Given the description of an element on the screen output the (x, y) to click on. 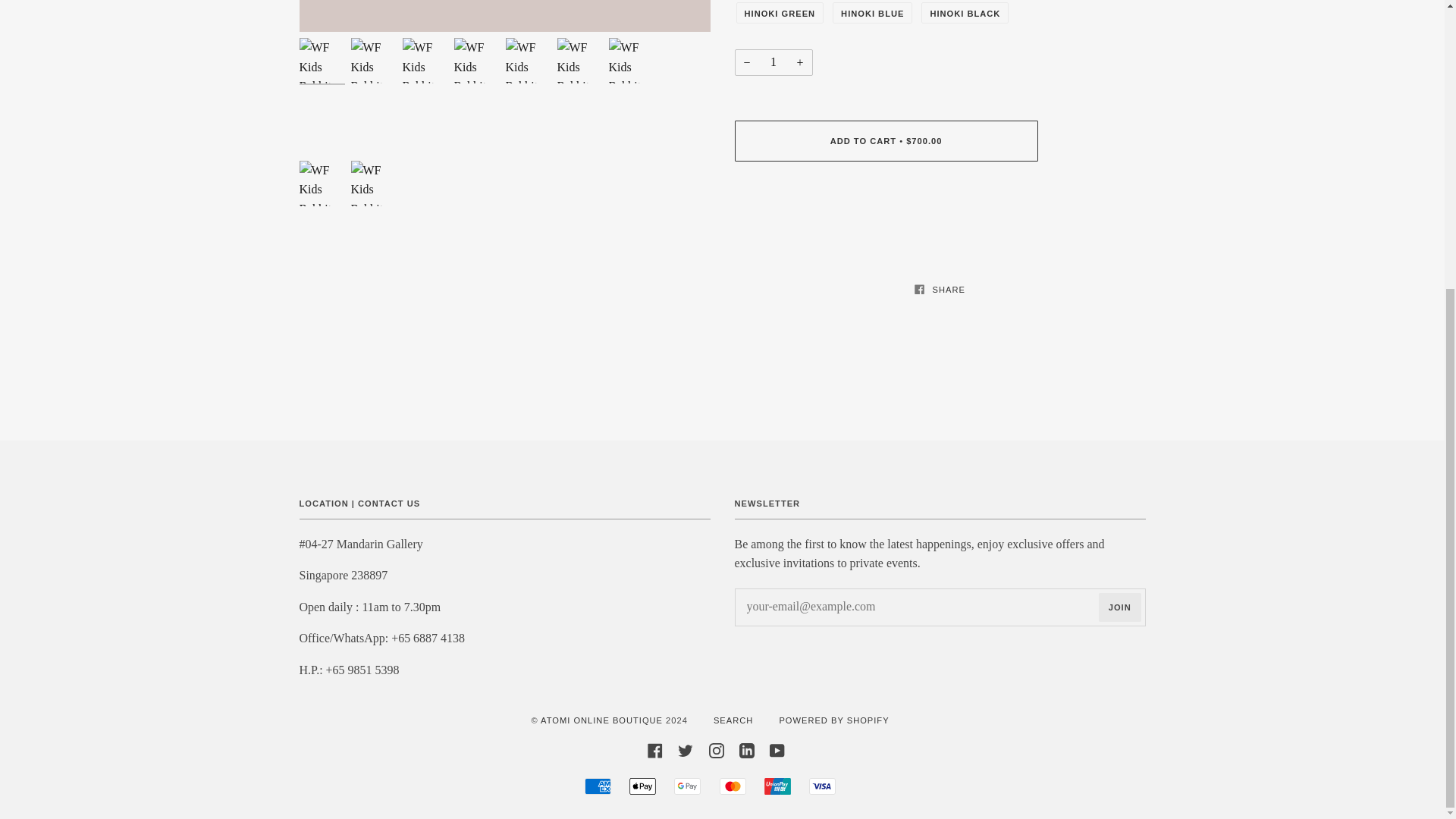
UNION PAY (777, 786)
Facebook (654, 749)
AMERICAN EXPRESS (598, 786)
MASTERCARD (732, 786)
Linkedin (746, 749)
APPLE PAY (642, 786)
YouTube (777, 749)
Twitter (685, 749)
1 (772, 62)
VISA (822, 786)
